Given the description of an element on the screen output the (x, y) to click on. 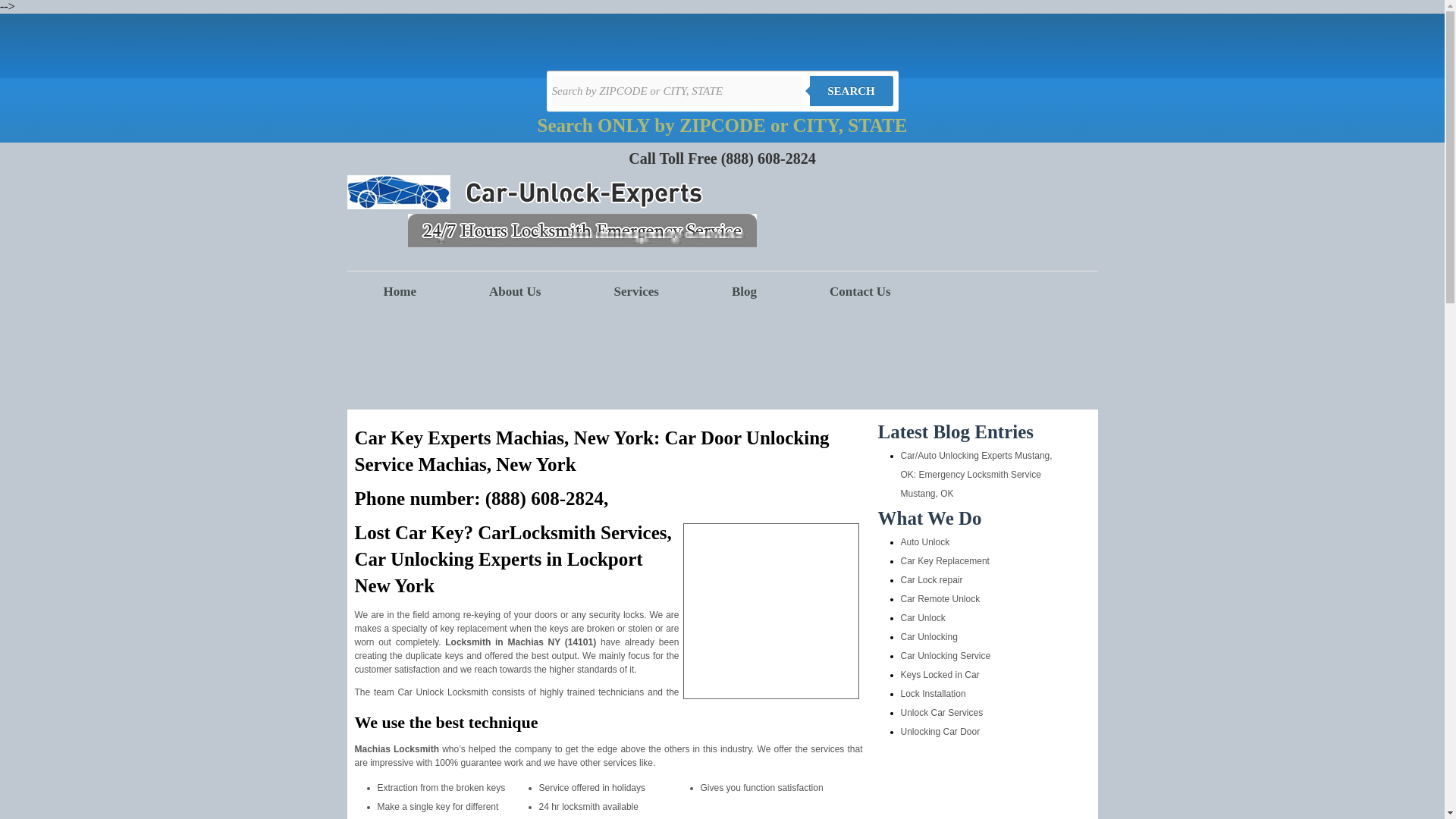
Contact Us (860, 291)
Home (399, 291)
Blog (744, 291)
About Us (515, 291)
SEARCH (851, 91)
Services (635, 291)
